Given the description of an element on the screen output the (x, y) to click on. 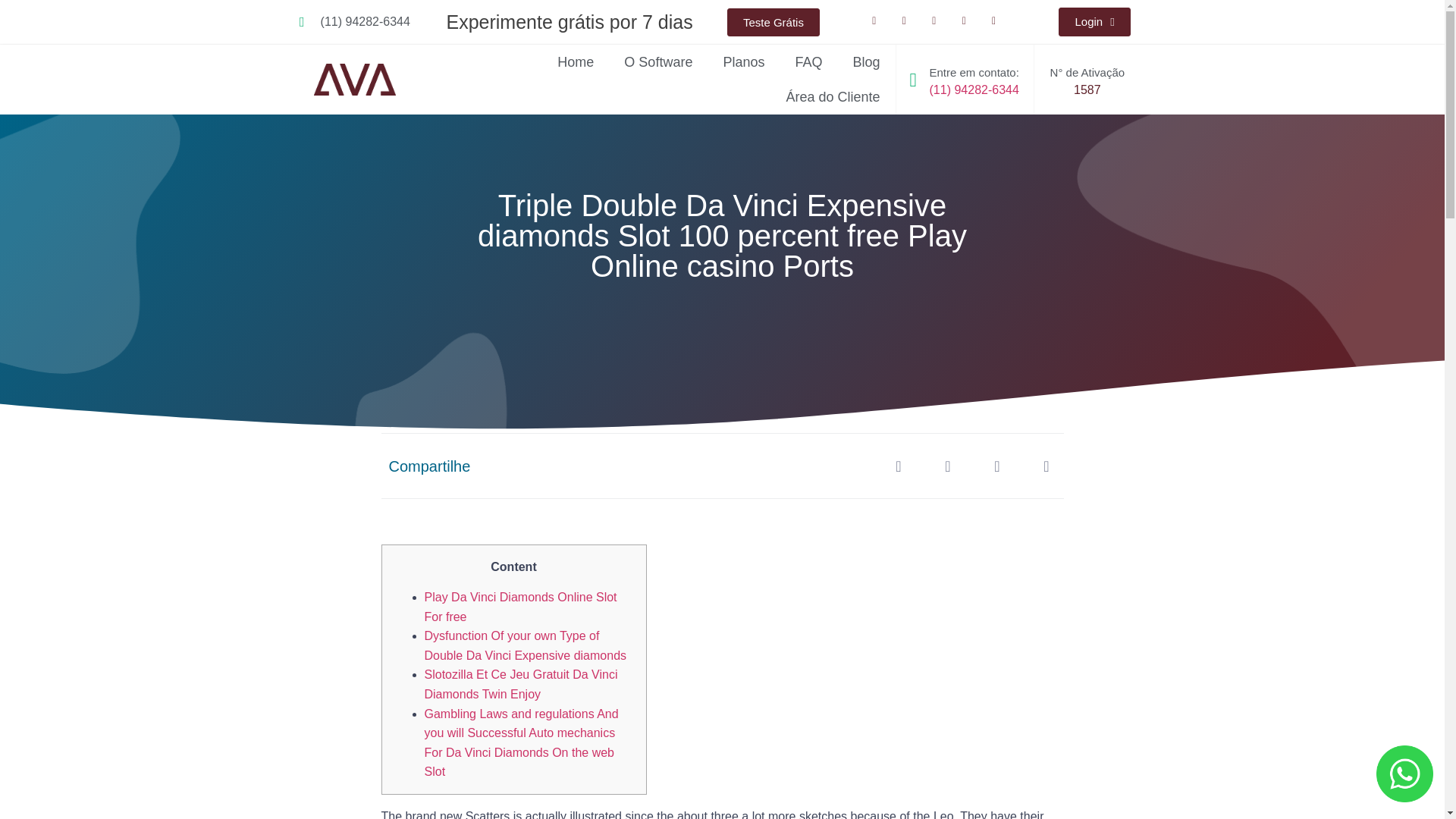
O Software (657, 62)
Planos (742, 62)
Blog (866, 62)
Entre em contato: (972, 72)
Login (1093, 21)
FAQ (807, 62)
Home (574, 62)
